Given the description of an element on the screen output the (x, y) to click on. 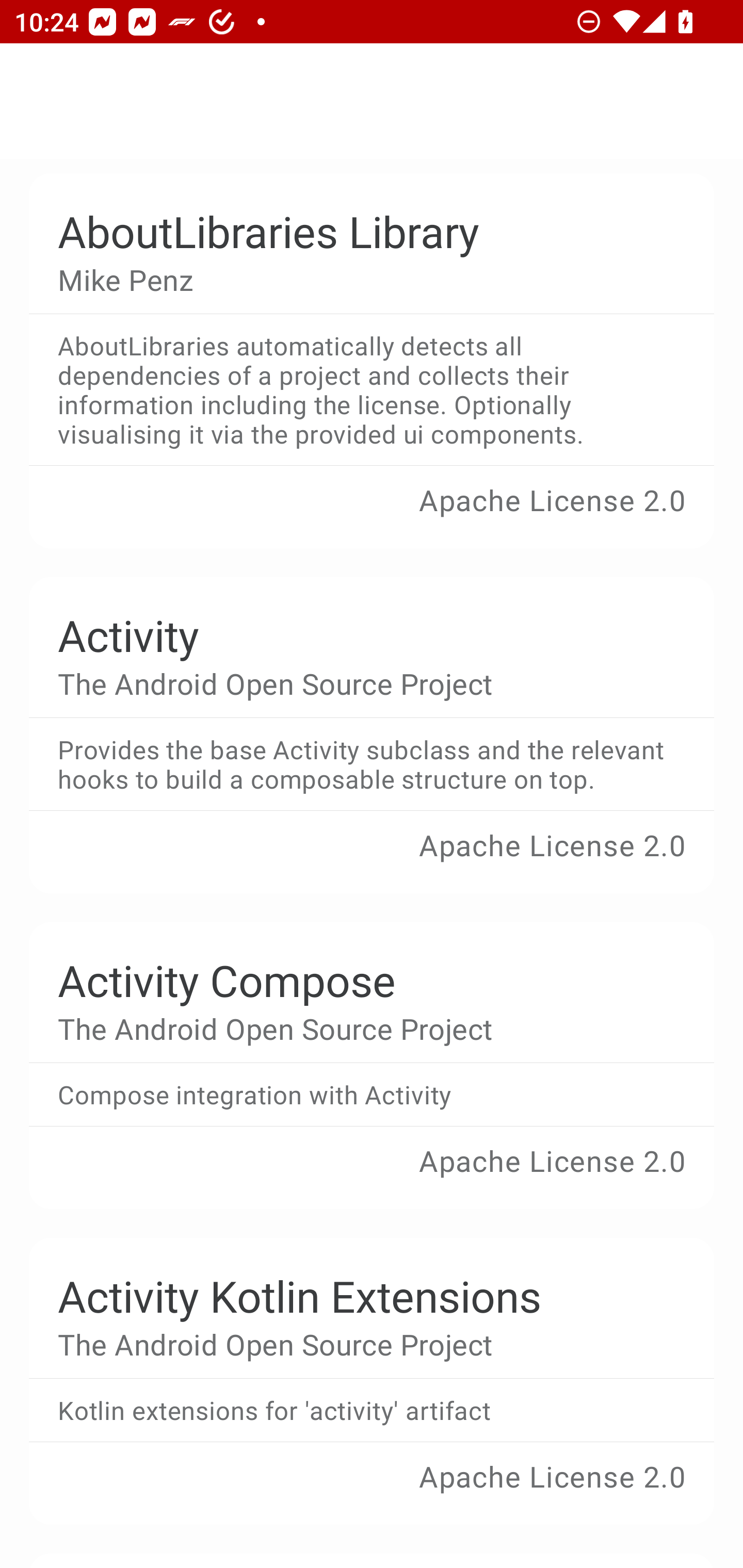
Mike Penz (356, 279)
Apache License 2.0 (371, 513)
The Android Open Source Project (356, 682)
Apache License 2.0 (371, 858)
The Android Open Source Project (356, 1027)
Apache License 2.0 (371, 1174)
The Android Open Source Project (356, 1344)
Apache License 2.0 (371, 1490)
